Given the description of an element on the screen output the (x, y) to click on. 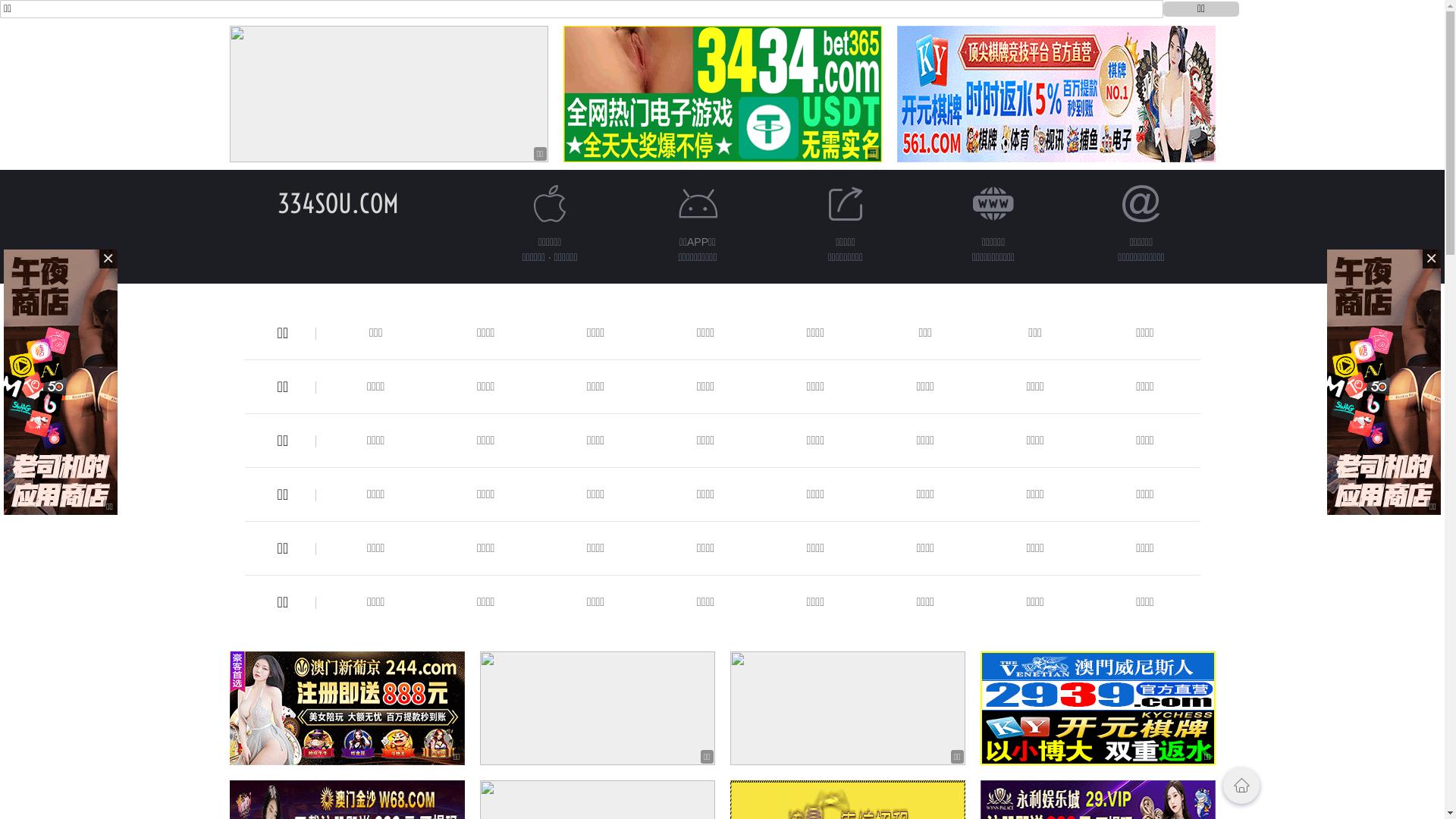
334SOU.COM Element type: text (337, 203)
